Given the description of an element on the screen output the (x, y) to click on. 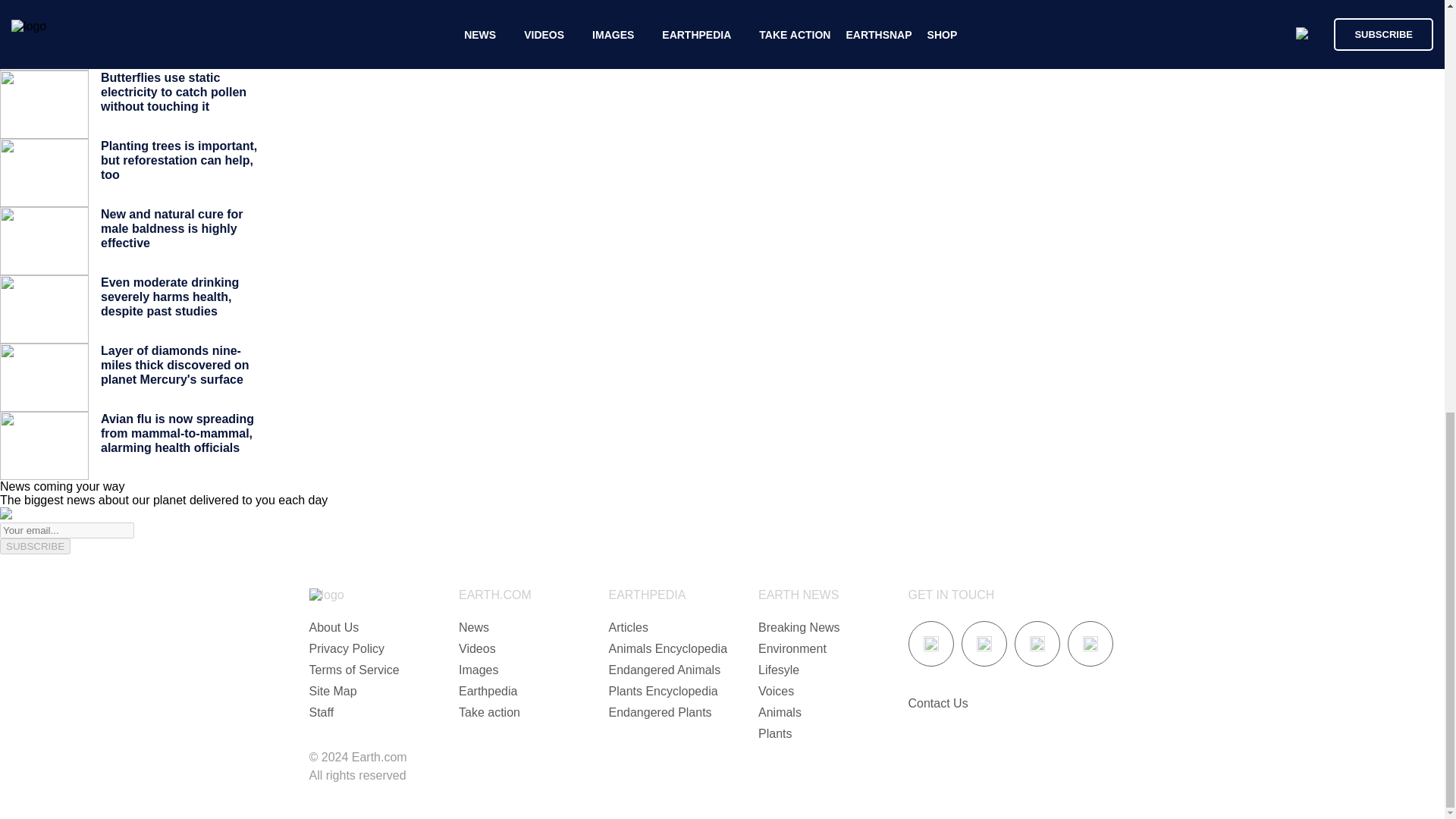
SUBSCRIBE (34, 546)
New and natural cure for male baldness is highly effective (171, 228)
Privacy Policy (346, 648)
Terms of Service (353, 669)
About Us (333, 626)
Planting trees is important, but reforestation can help, too (178, 160)
